Given the description of an element on the screen output the (x, y) to click on. 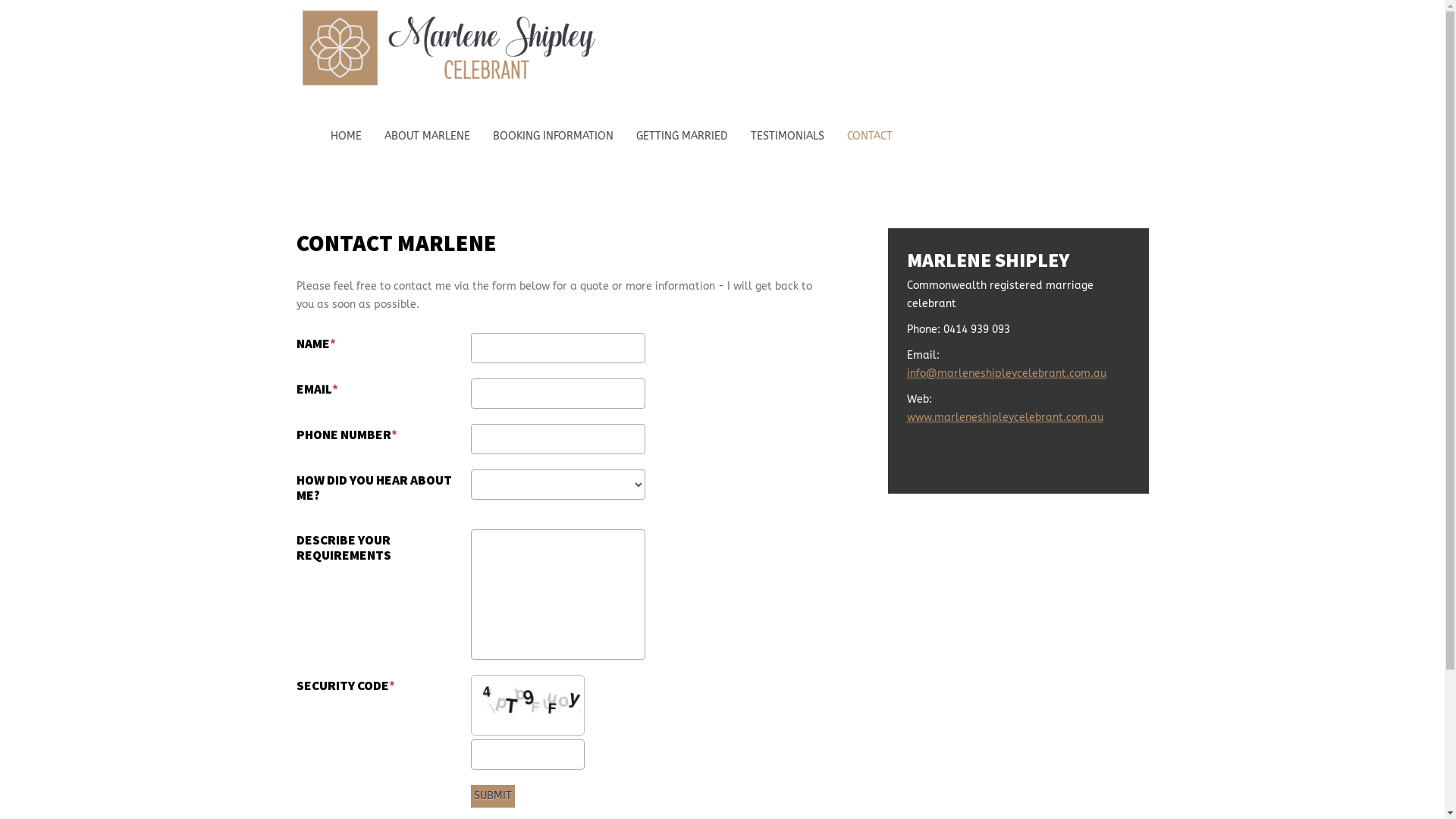
GETTING MARRIED Element type: text (681, 136)
TESTIMONIALS Element type: text (787, 135)
CONTACT Element type: text (868, 136)
SUBMIT Element type: text (492, 795)
GETTING MARRIED Element type: text (681, 135)
BOOKING INFORMATION Element type: text (552, 136)
HOME Element type: text (345, 136)
www.marleneshipleycelebrant.com.au Element type: text (1004, 417)
TESTIMONIALS Element type: text (787, 136)
HOME Element type: text (345, 135)
CONTACT Element type: text (868, 135)
BOOKING INFORMATION Element type: text (552, 135)
info@marleneshipleycelebrant.com.au Element type: text (1006, 373)
ABOUT MARLENE Element type: text (426, 135)
ABOUT MARLENE Element type: text (426, 136)
